Given the description of an element on the screen output the (x, y) to click on. 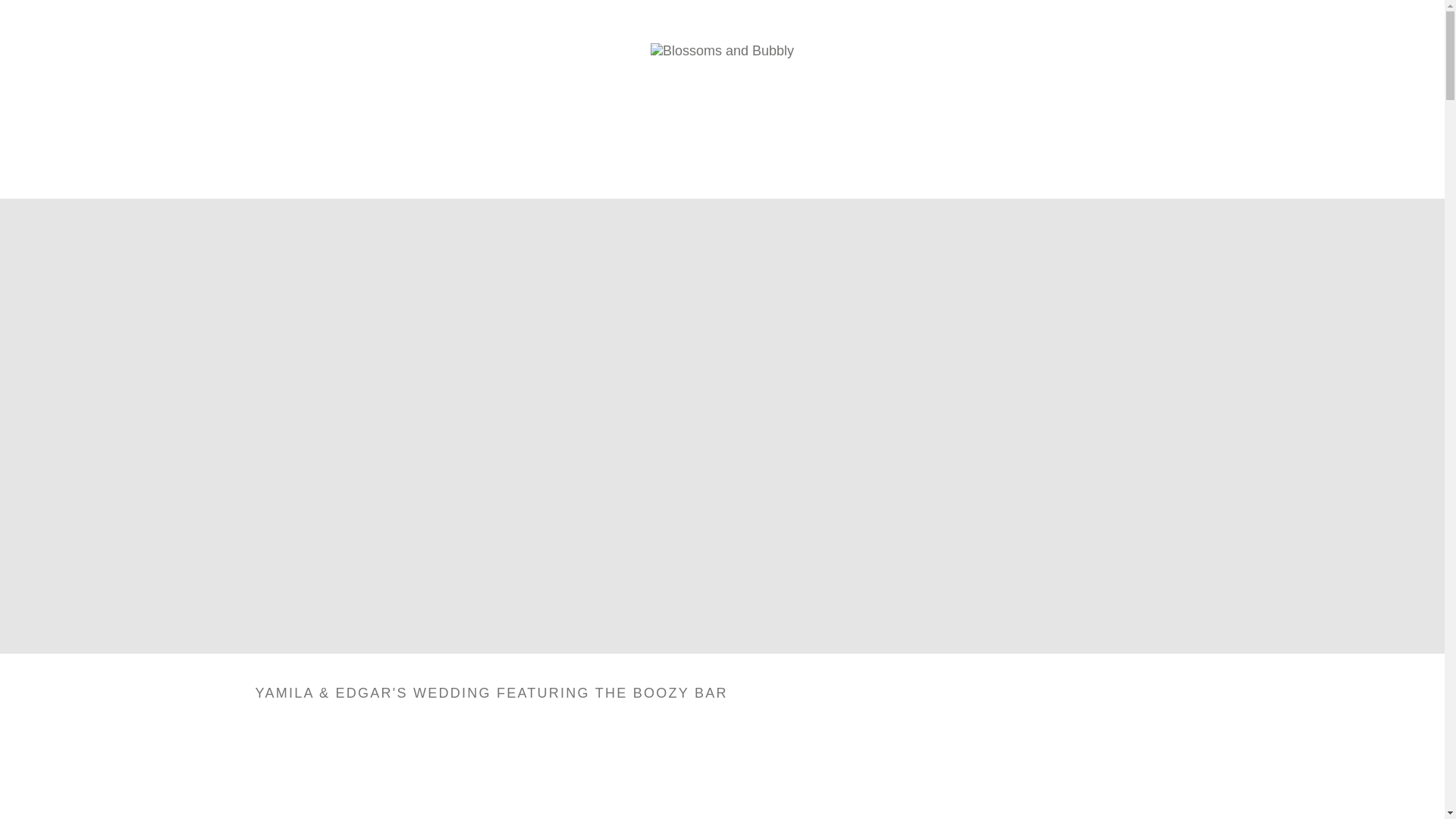
Blossoms and Bubbly (721, 49)
